Given the description of an element on the screen output the (x, y) to click on. 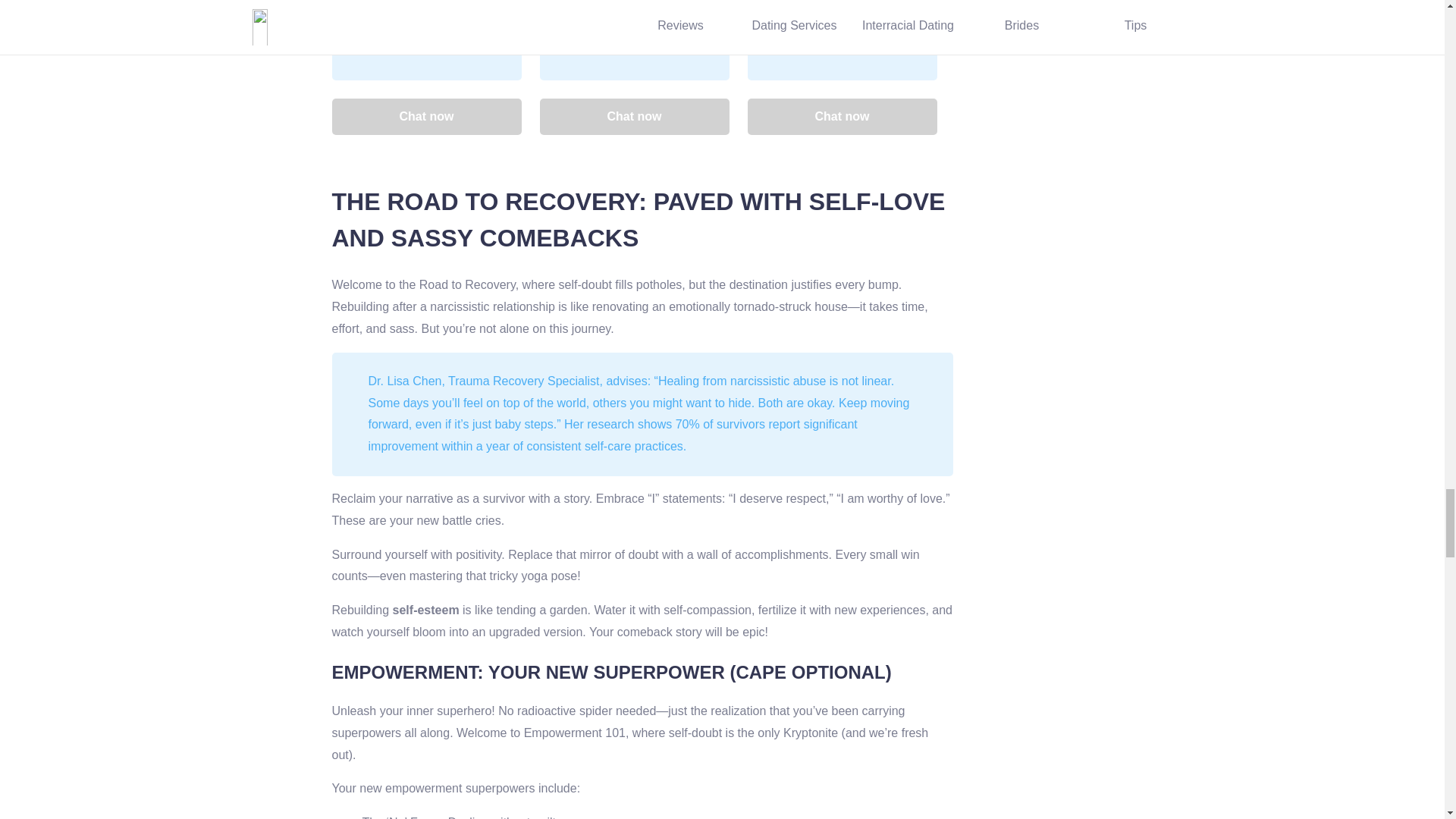
Chat now (634, 116)
Chat now (842, 116)
Chat now (426, 116)
